Given the description of an element on the screen output the (x, y) to click on. 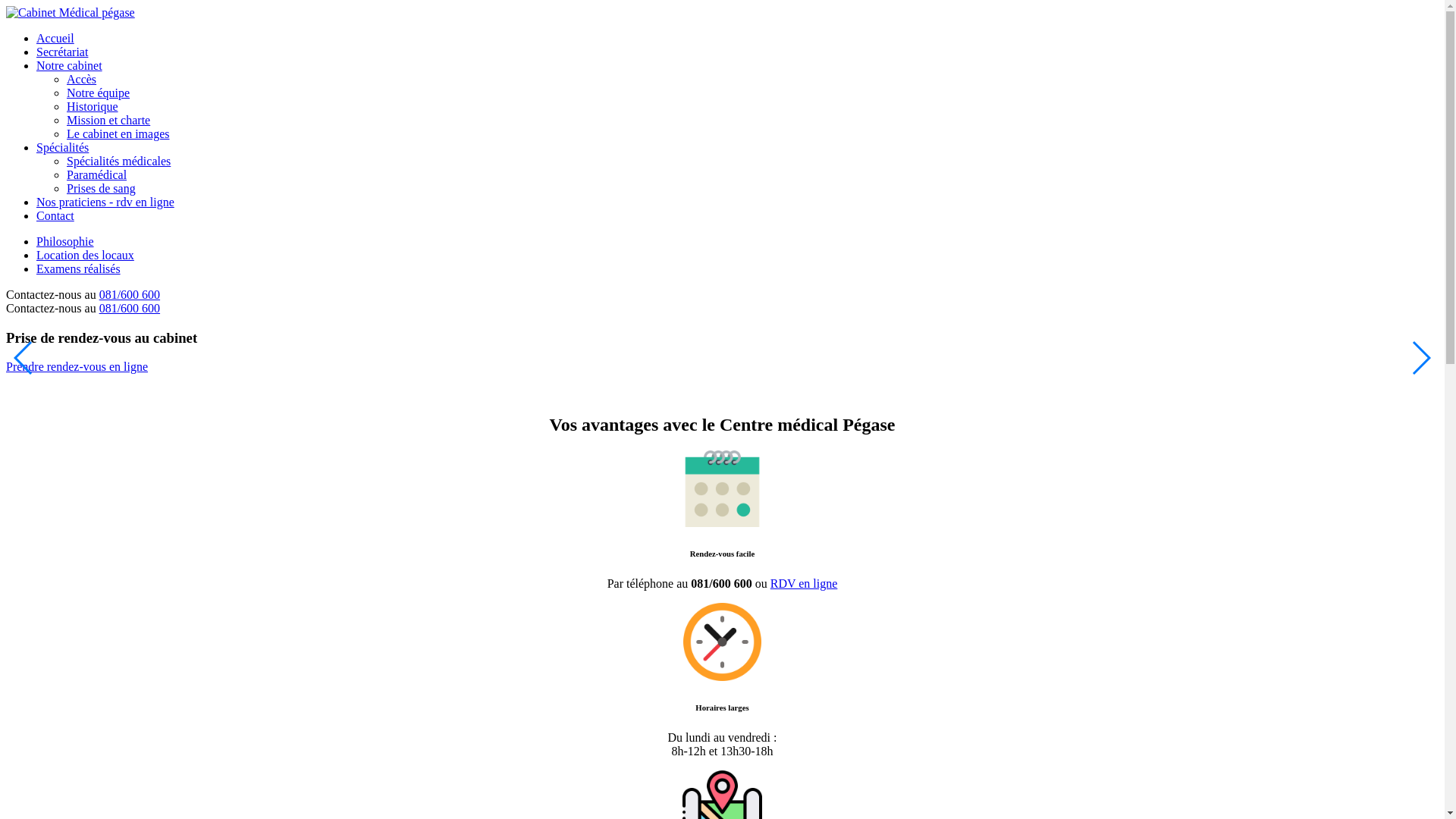
Philosophie Element type: text (65, 241)
Notre cabinet Element type: text (69, 65)
Mission et charte Element type: text (108, 119)
Le cabinet en images Element type: text (117, 133)
081/600 600 Element type: text (129, 294)
Location des locaux Element type: text (85, 254)
Nos praticiens - rdv en ligne Element type: text (105, 201)
Prises de sang Element type: text (100, 188)
Contact Element type: text (55, 215)
RDV en ligne Element type: text (803, 583)
Accueil Element type: text (55, 37)
081/600 600 Element type: text (129, 307)
Historique Element type: text (92, 106)
Prendre rendez-vous en ligne Element type: text (76, 366)
